Given the description of an element on the screen output the (x, y) to click on. 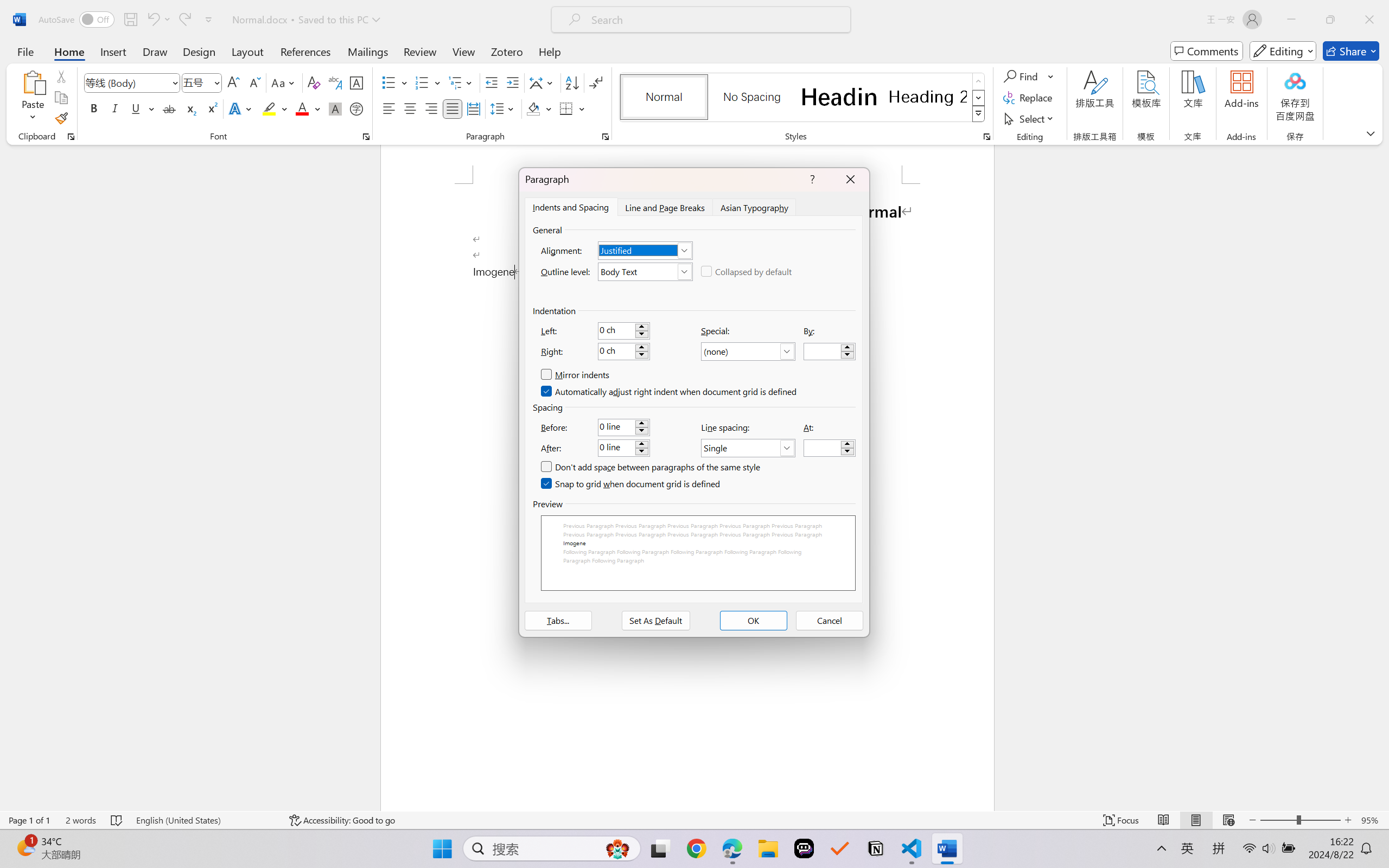
Spell Check  (50, 837)
